Given the description of an element on the screen output the (x, y) to click on. 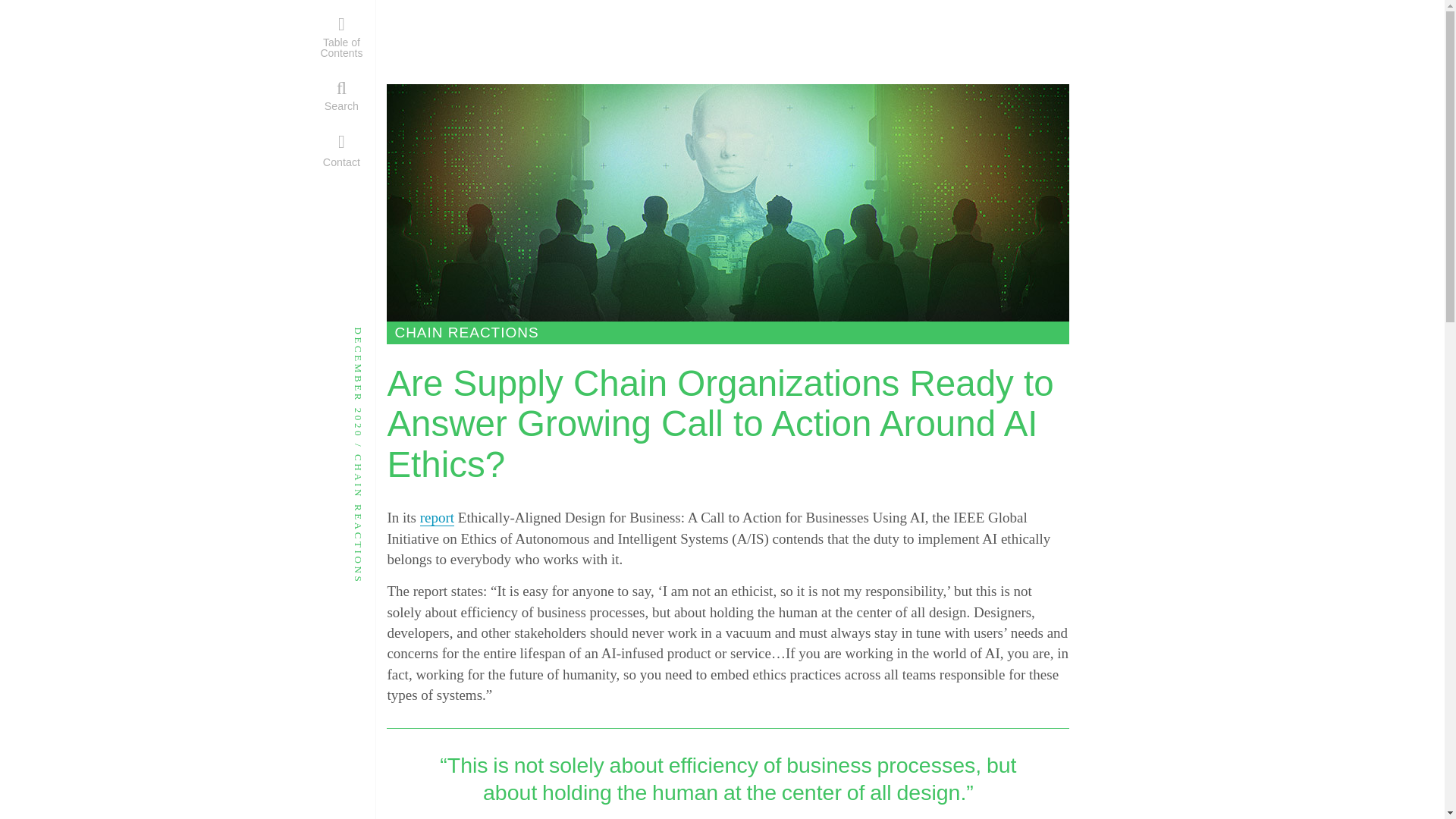
report (437, 517)
Contact (341, 151)
SUPPLY CHAIN NAVIGATOR (954, 41)
Toggle search (341, 96)
Search (341, 96)
Table of Contents (346, 36)
